Given the description of an element on the screen output the (x, y) to click on. 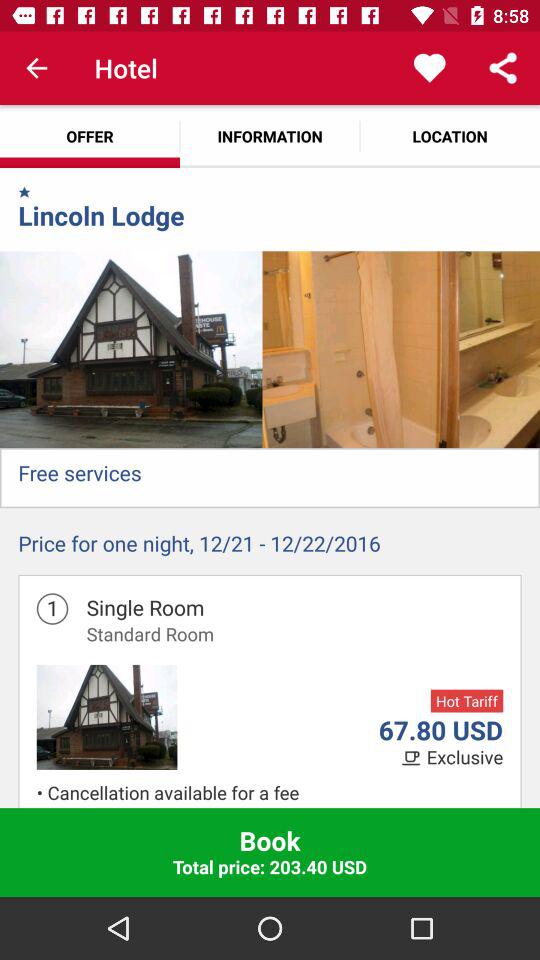
select the icon to the left of single room (52, 608)
